Given the description of an element on the screen output the (x, y) to click on. 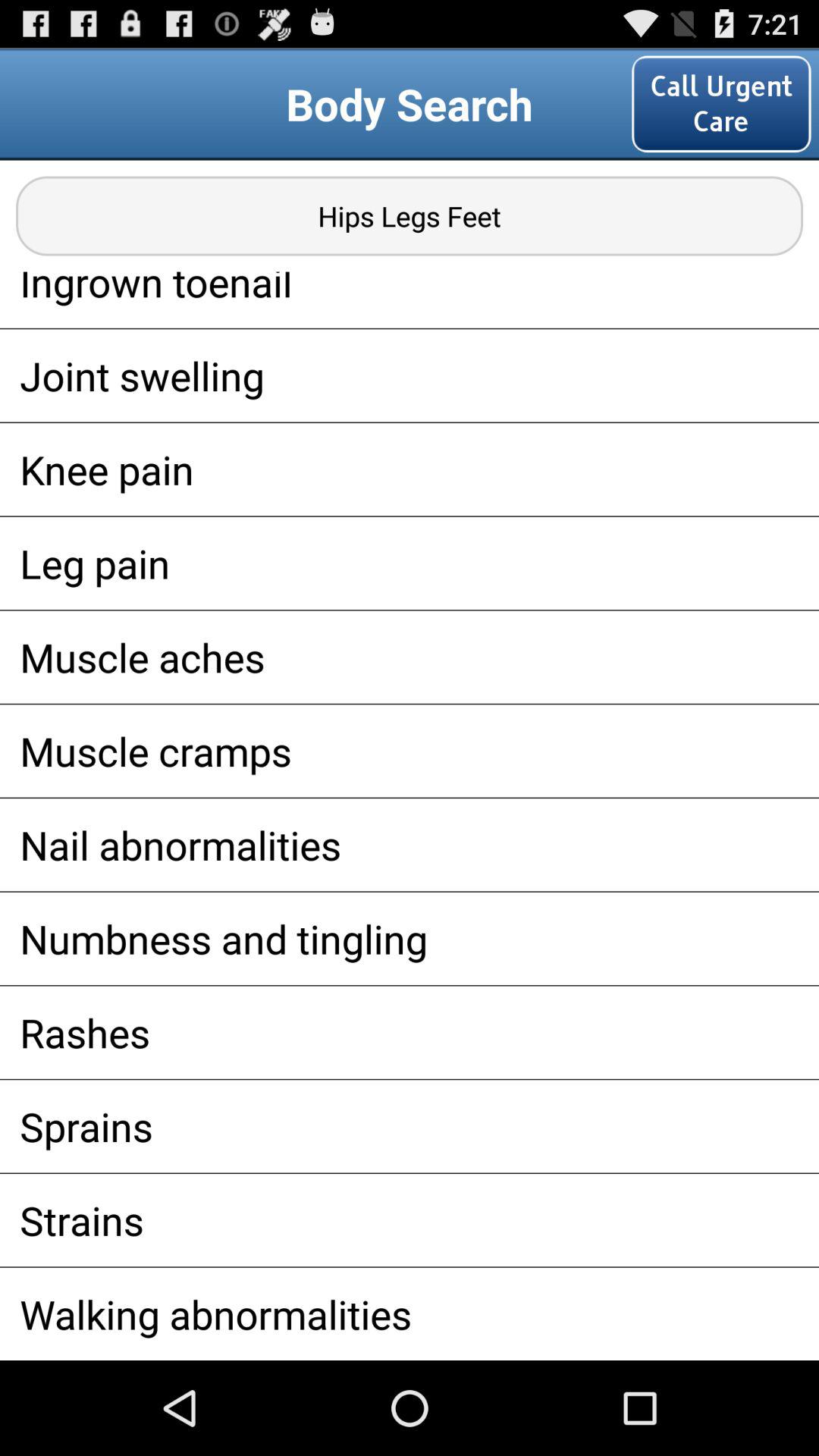
scroll until rashes (409, 1032)
